Given the description of an element on the screen output the (x, y) to click on. 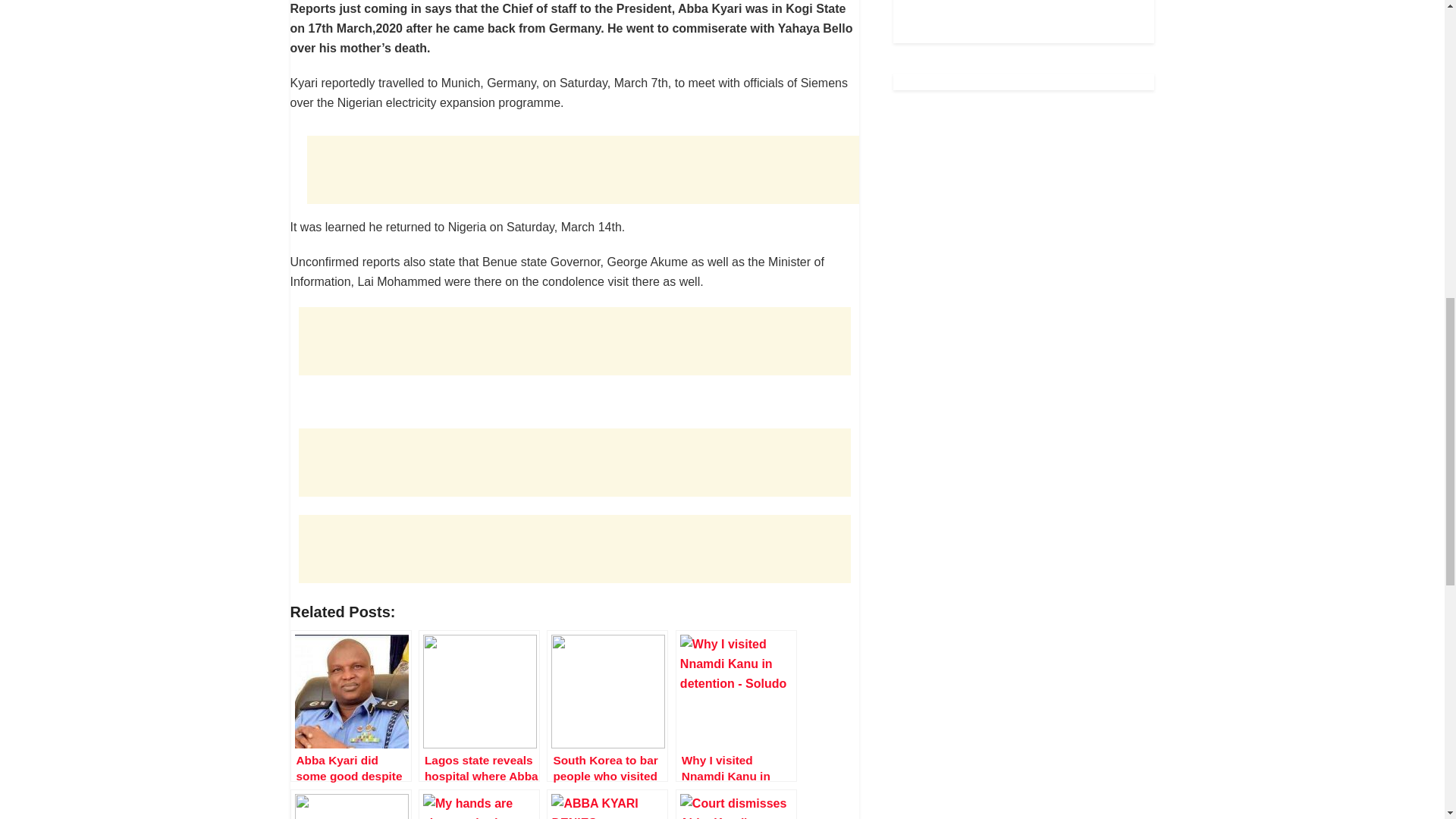
Abba Kyari denies ownership of linked properties, accounts (607, 804)
